Given the description of an element on the screen output the (x, y) to click on. 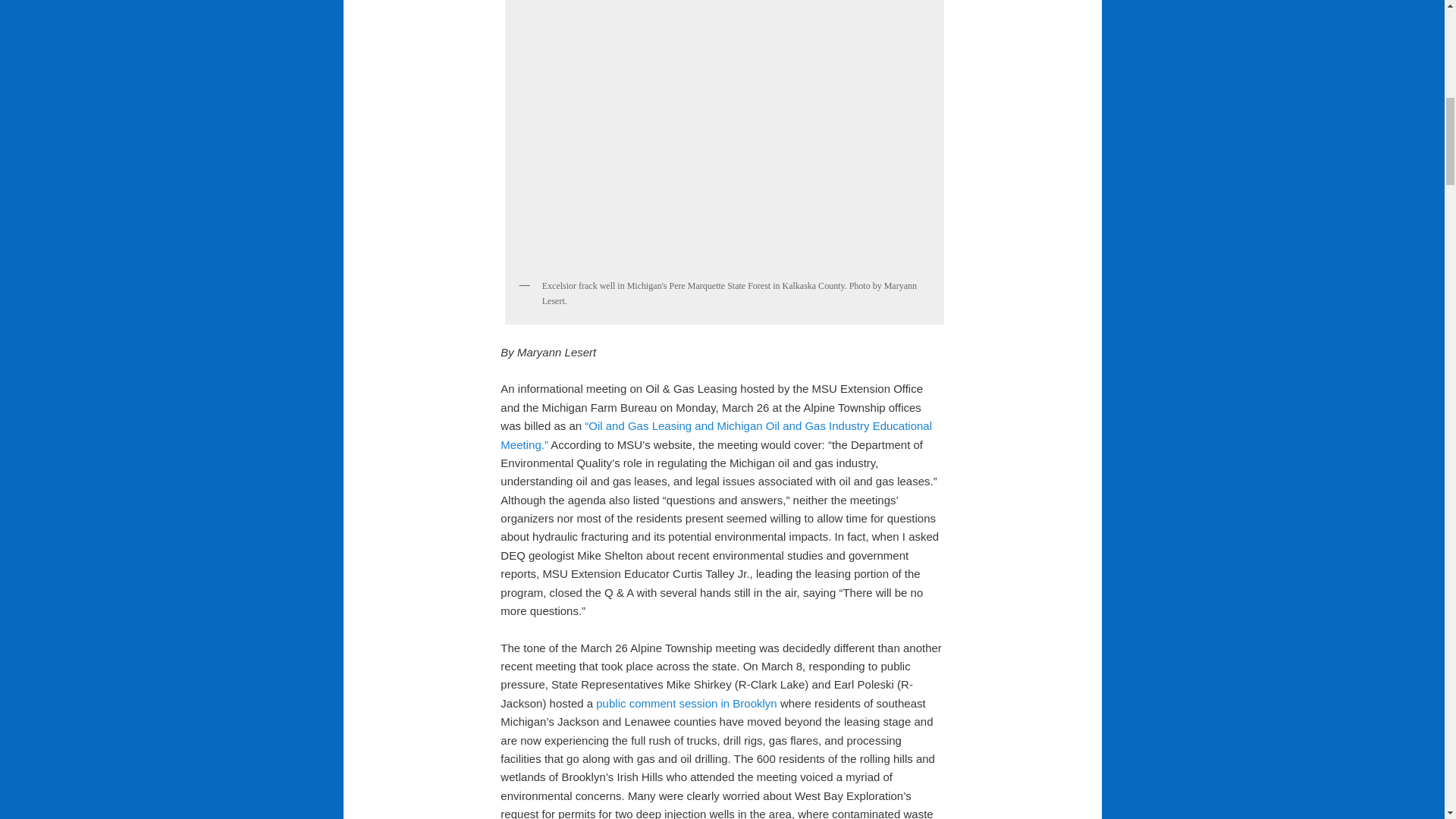
Brooklyn town hall meeting (685, 703)
Alpine township oil and gas meeting (715, 434)
public comment session in Brooklyn (685, 703)
